Given the description of an element on the screen output the (x, y) to click on. 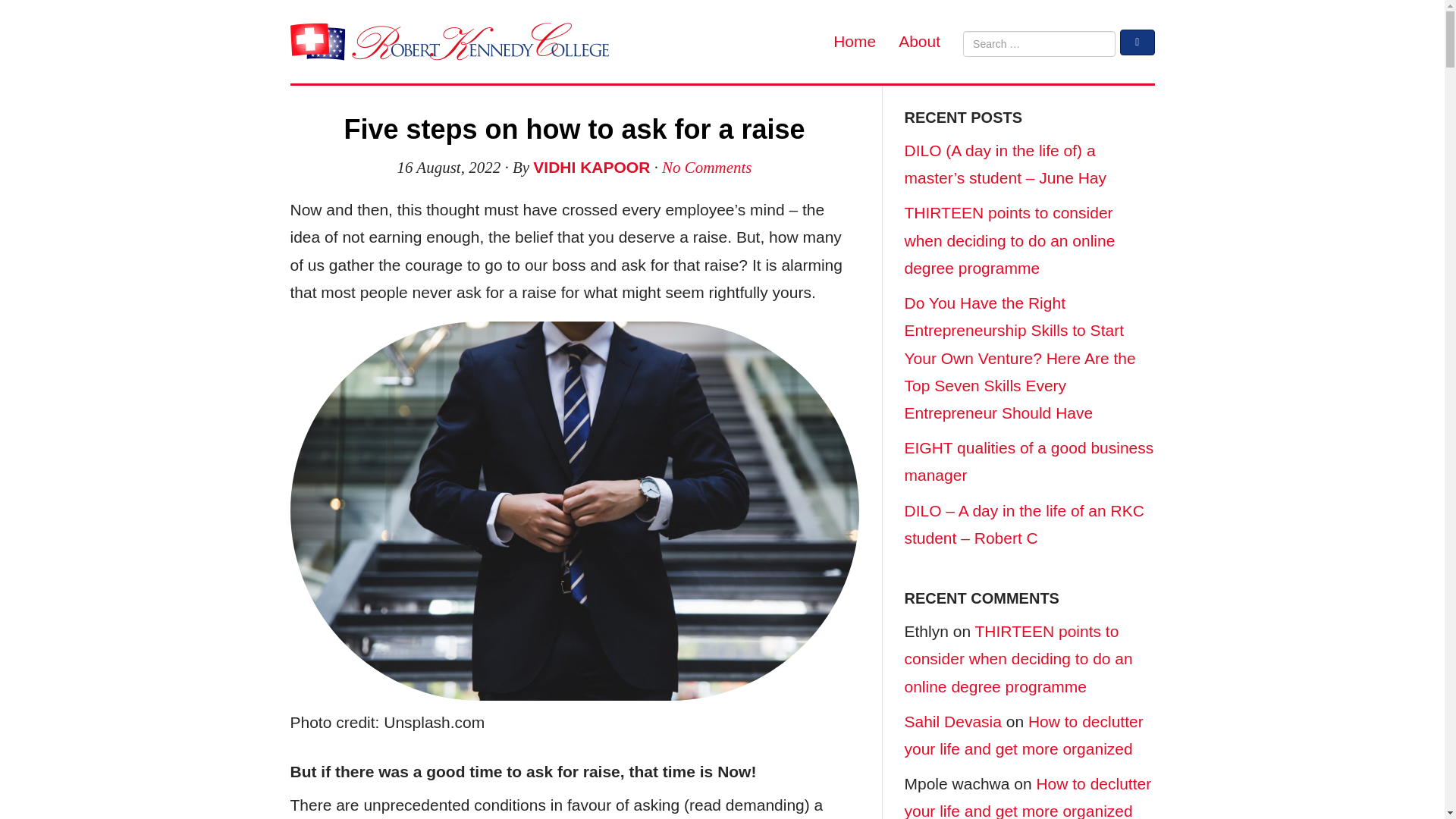
EIGHT qualities of a good business manager (1028, 461)
Permalink to Five steps on how to ask for a raise (574, 128)
Posts by Vidhi Kapoor (590, 167)
Five steps on how to ask for a raise (574, 128)
VIDHI KAPOOR (590, 167)
Sahil Devasia (952, 721)
How to declutter your life and get more organized (1027, 796)
No Comments (706, 167)
